Given the description of an element on the screen output the (x, y) to click on. 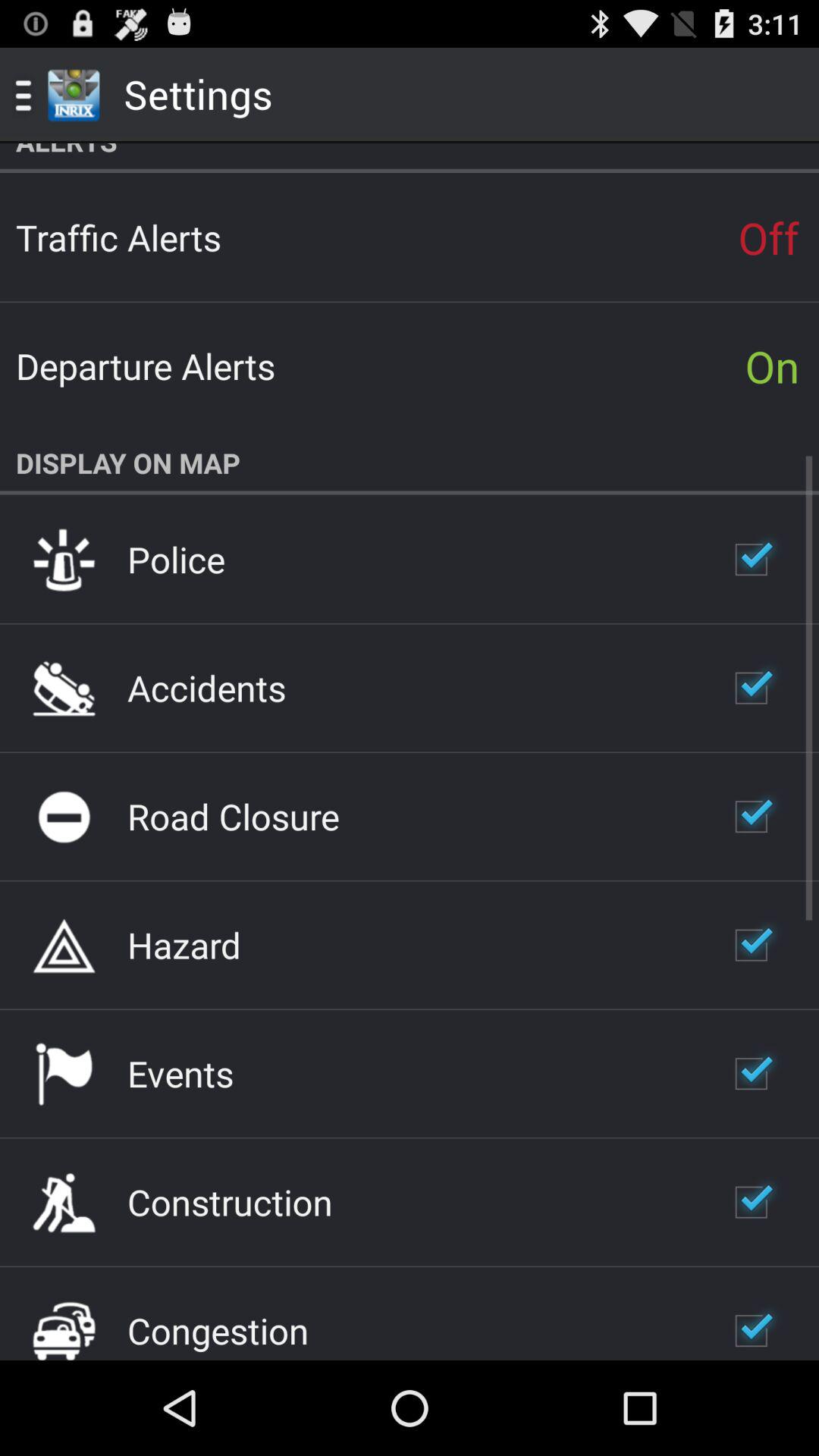
tap the item below the accidents item (233, 816)
